Given the description of an element on the screen output the (x, y) to click on. 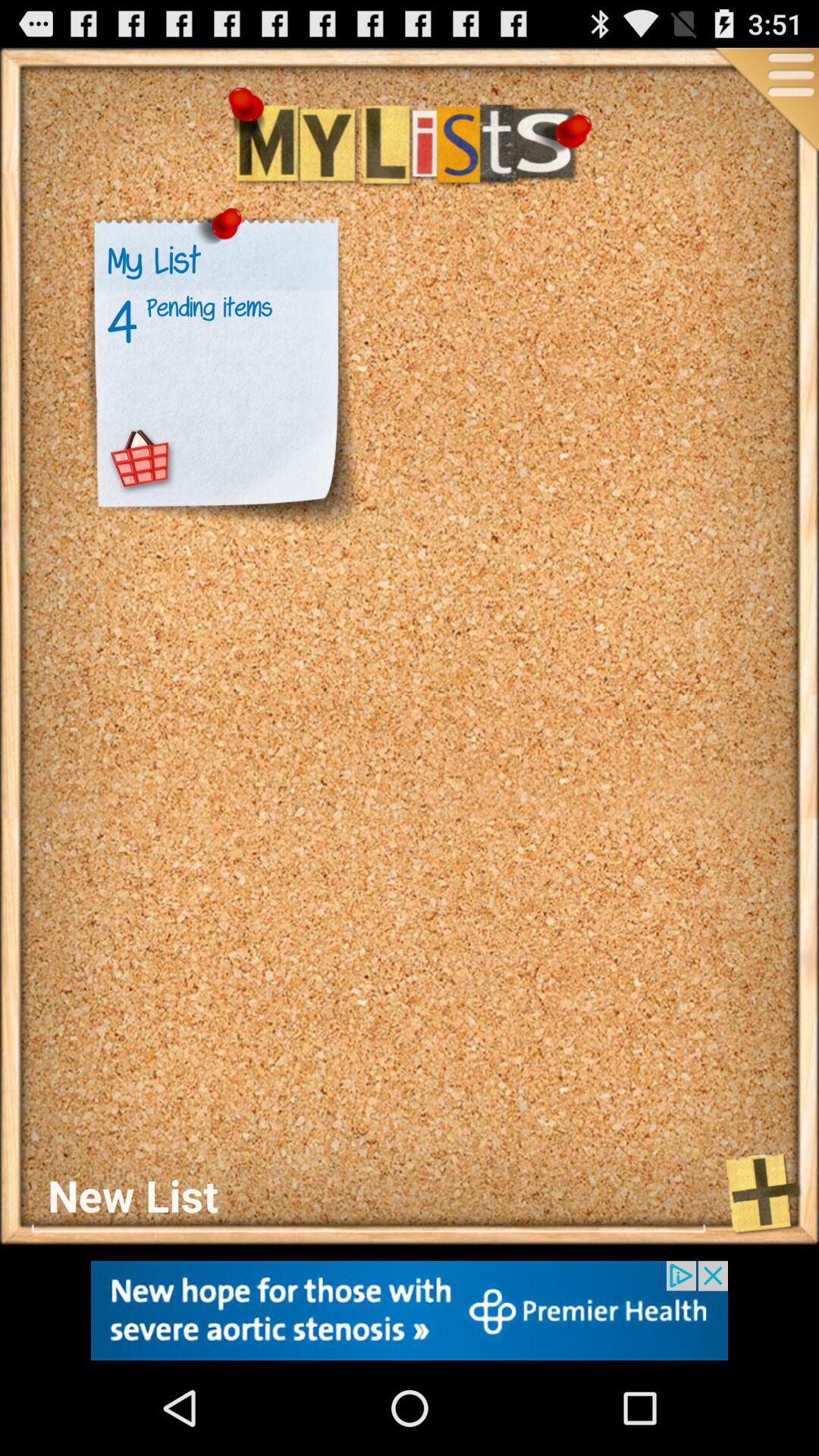
open cart (141, 460)
